Given the description of an element on the screen output the (x, y) to click on. 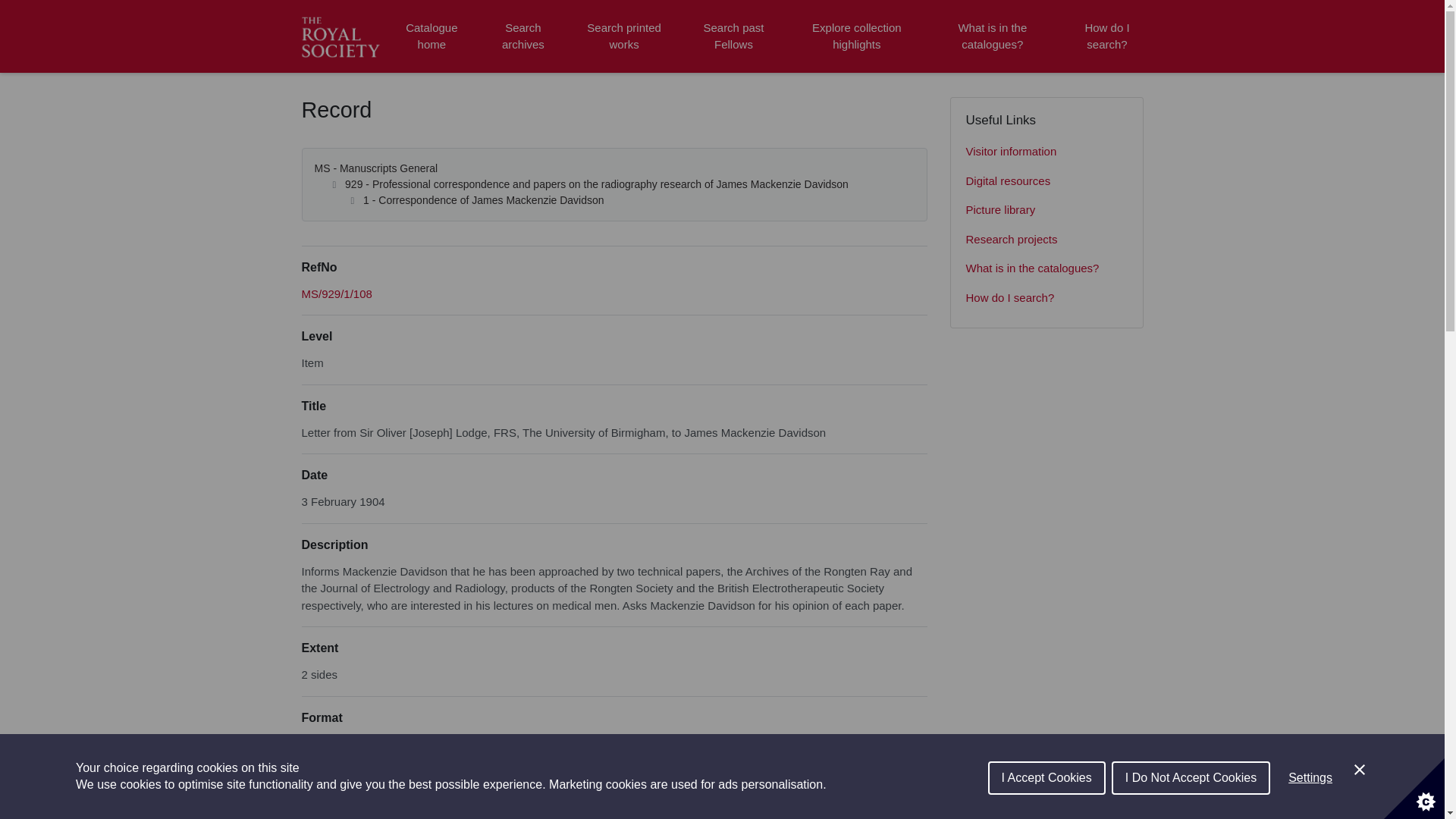
Visitor information (1046, 152)
Explore collection highlights (856, 36)
How do I search? (1046, 297)
I Do Not Accept Cookies (1190, 807)
1 - Correspondence of James Mackenzie Davidson (483, 200)
Catalogue home (431, 36)
What is in the catalogues? (1046, 268)
How do I search? (1106, 36)
Digital resources (1046, 181)
Search past Fellows (732, 36)
Settings (1309, 802)
Homepage (343, 36)
Search printed works (624, 36)
Picture library (1046, 210)
Search archives (522, 36)
